Given the description of an element on the screen output the (x, y) to click on. 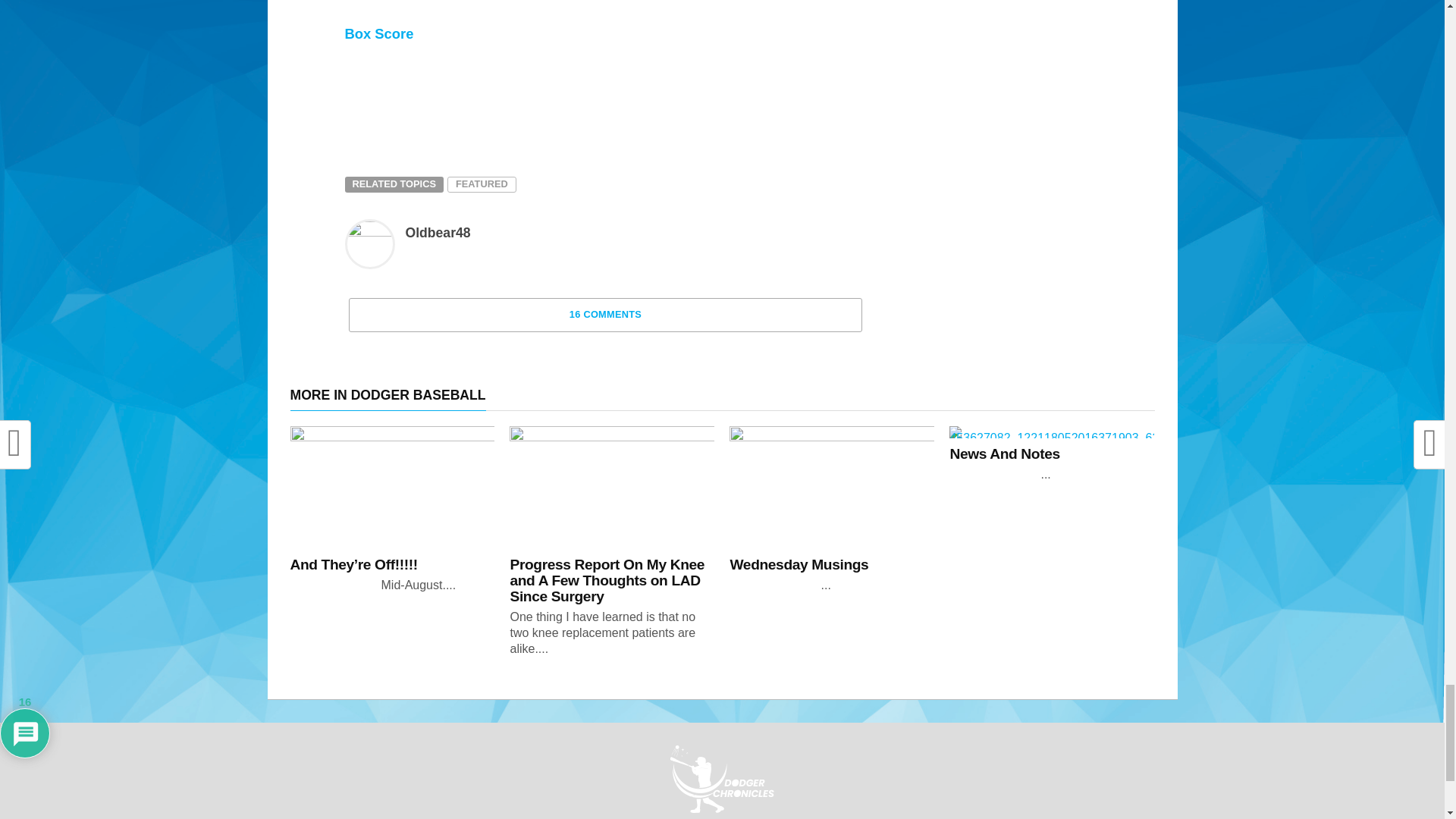
Oldbear48 (437, 232)
FEATURED (481, 184)
Posts by Oldbear48 (437, 232)
Box Score (378, 33)
